Given the description of an element on the screen output the (x, y) to click on. 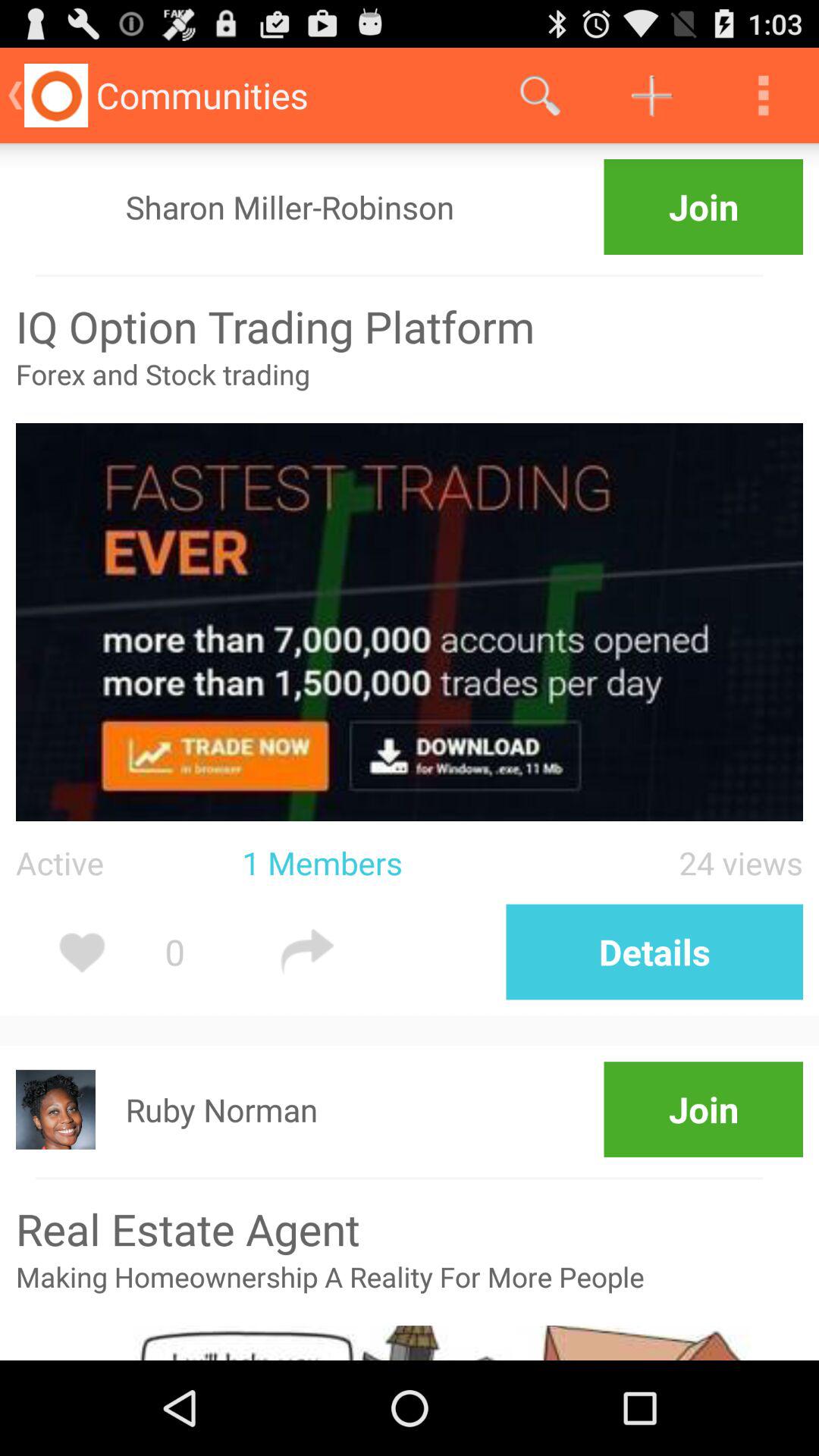
open real estate agent (409, 1228)
